Given the description of an element on the screen output the (x, y) to click on. 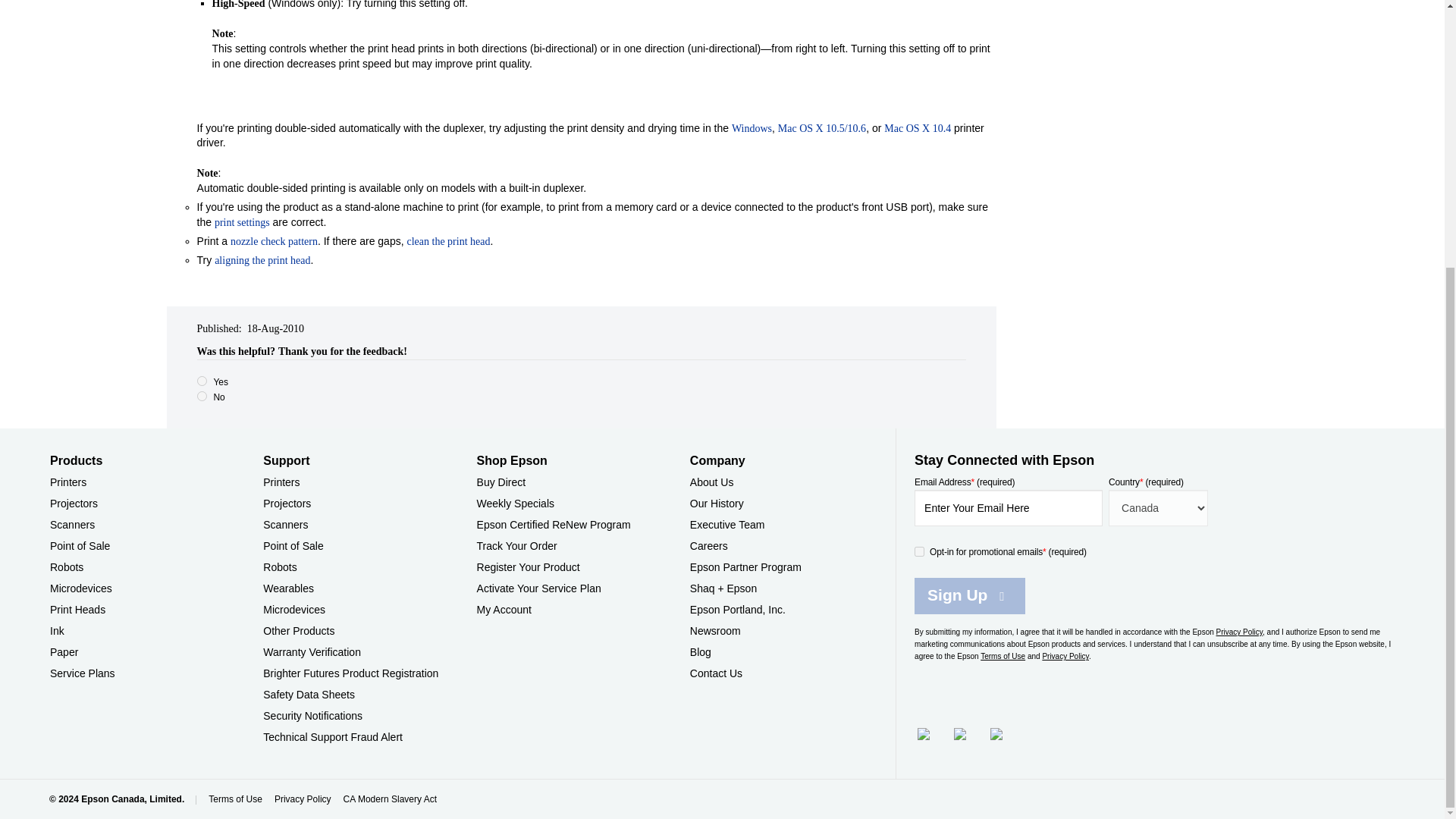
on (919, 551)
no (201, 396)
yes (201, 380)
